Given the description of an element on the screen output the (x, y) to click on. 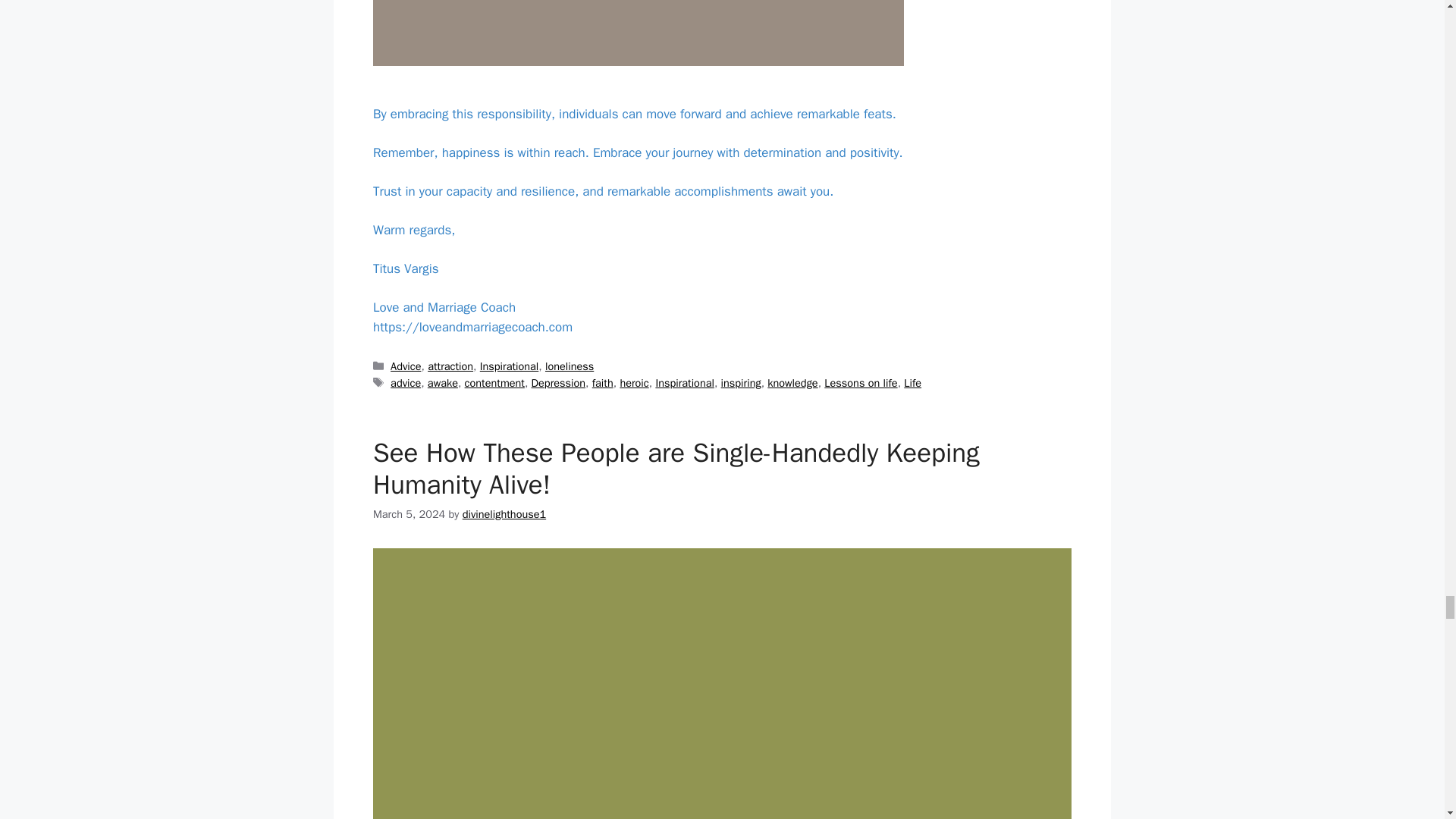
View all posts by divinelighthouse1 (504, 513)
